Given the description of an element on the screen output the (x, y) to click on. 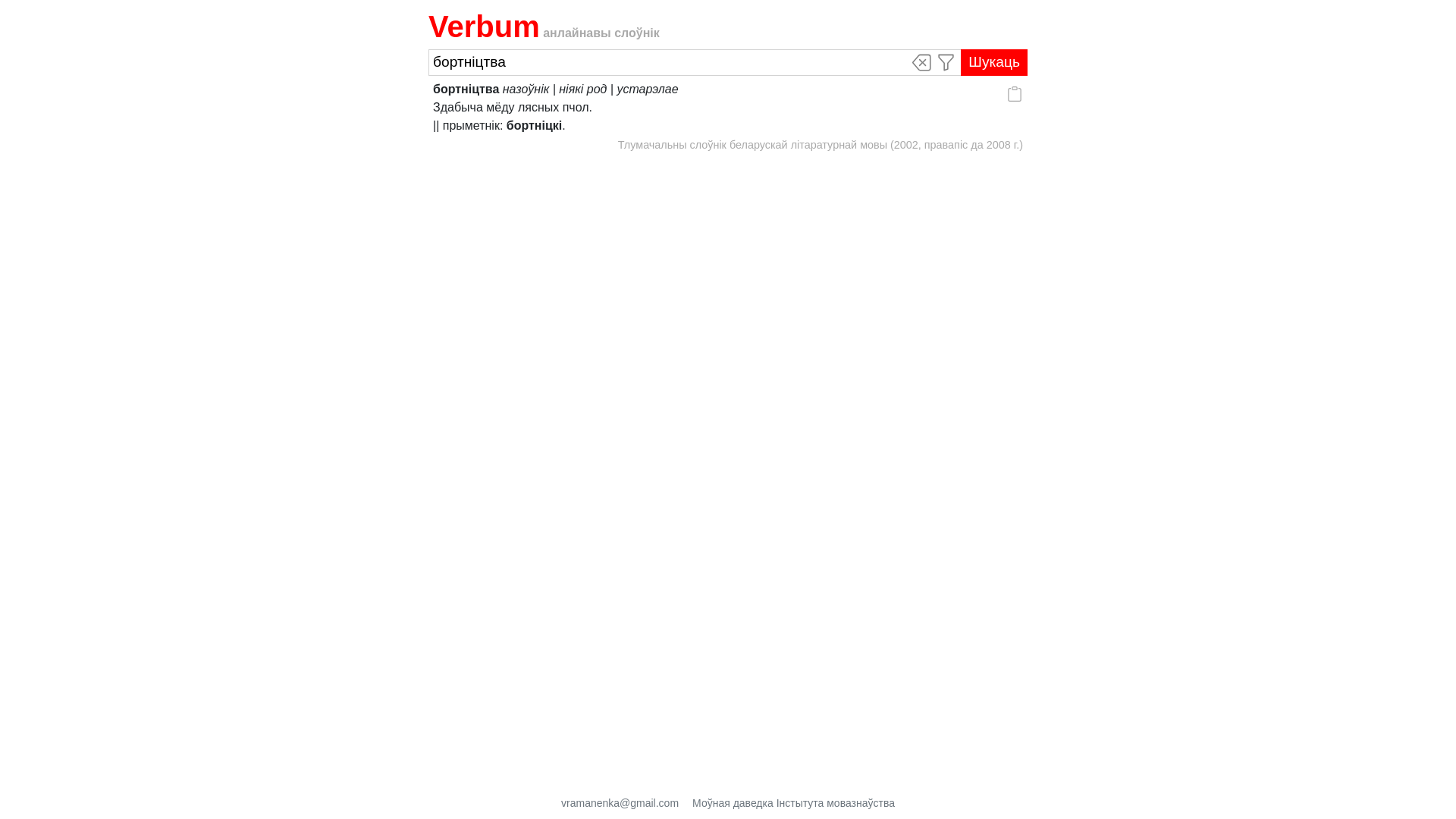
vramanenka@gmail.com Element type: text (619, 803)
Verbum Element type: text (483, 26)
